Given the description of an element on the screen output the (x, y) to click on. 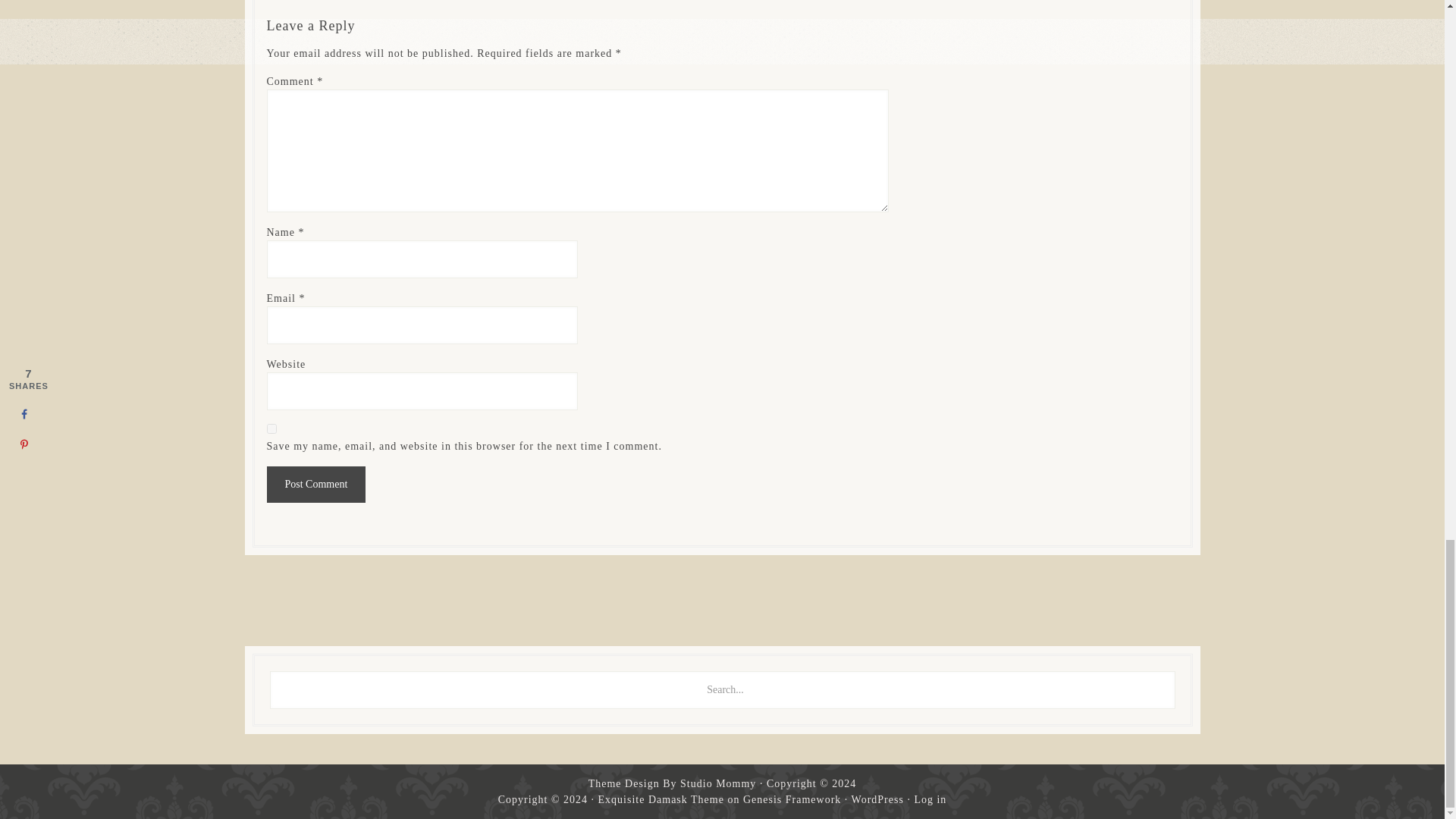
Post Comment (316, 484)
Studio Mommy (717, 783)
yes (271, 429)
